Given the description of an element on the screen output the (x, y) to click on. 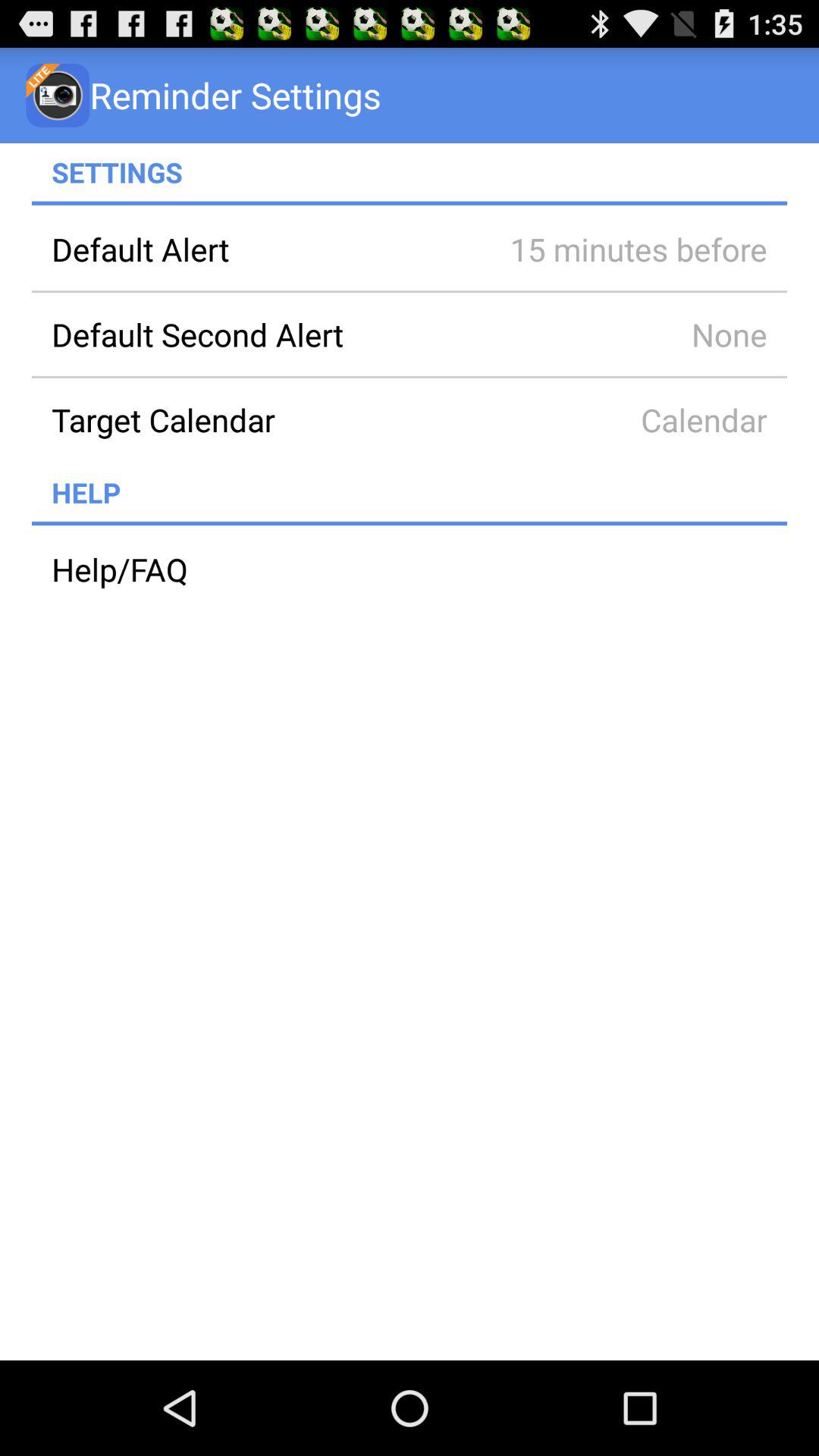
open app next to calendar icon (259, 419)
